Given the description of an element on the screen output the (x, y) to click on. 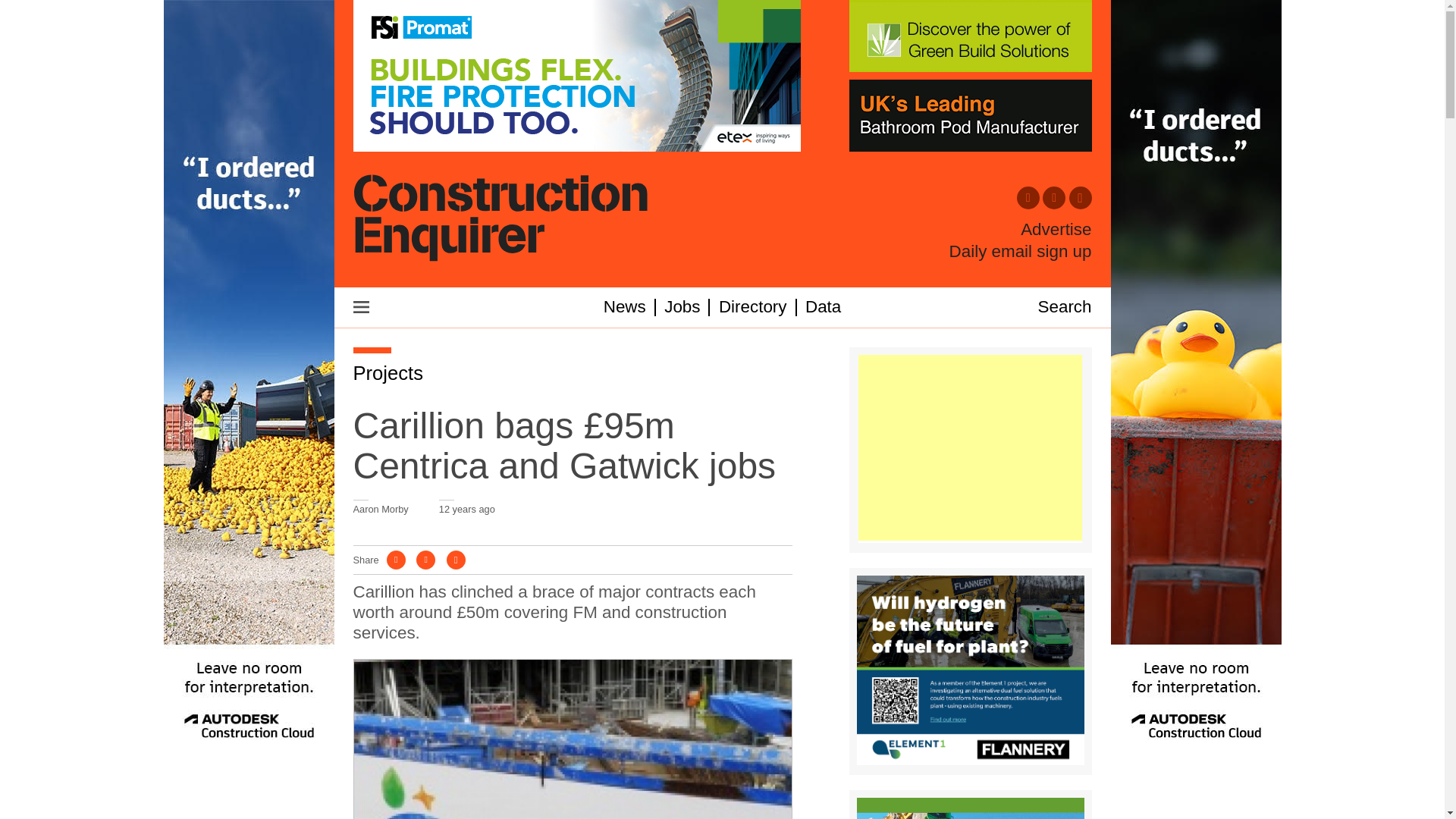
News (625, 306)
Advertisement (970, 447)
Jobs (681, 306)
Construction Enquirer (500, 219)
Data (823, 306)
Search (1065, 306)
Daily email sign up (1020, 251)
Projects (388, 373)
Menu (361, 306)
Directory (753, 306)
Advertise (1055, 229)
